Given the description of an element on the screen output the (x, y) to click on. 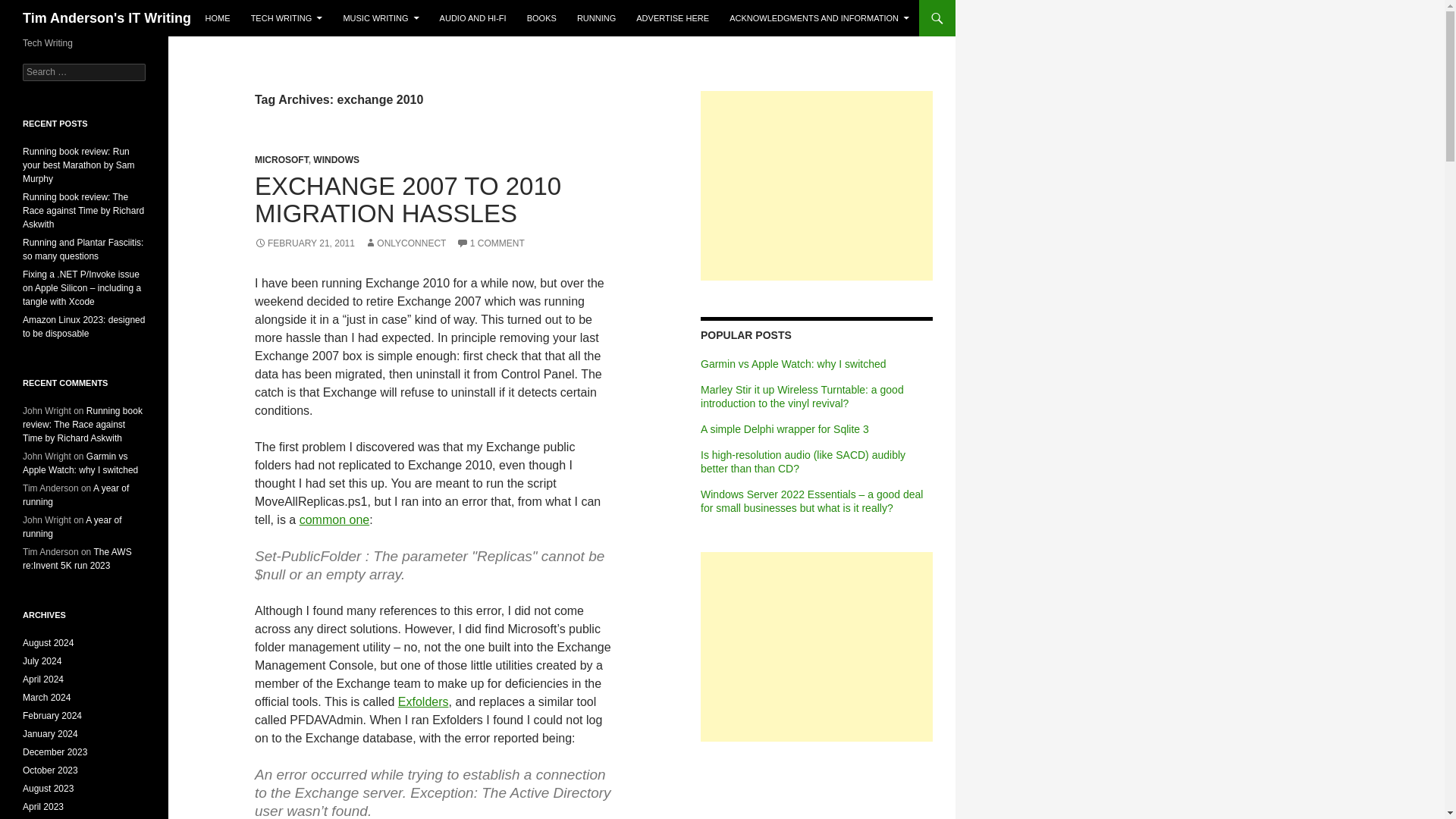
WINDOWS (336, 159)
Exfolders (422, 701)
TECH WRITING (286, 18)
ONLYCONNECT (405, 243)
FEBRUARY 21, 2011 (304, 243)
AUDIO AND HI-FI (472, 18)
Garmin vs Apple Watch: why I switched (793, 363)
common one (334, 519)
MICROSOFT (281, 159)
